Given the description of an element on the screen output the (x, y) to click on. 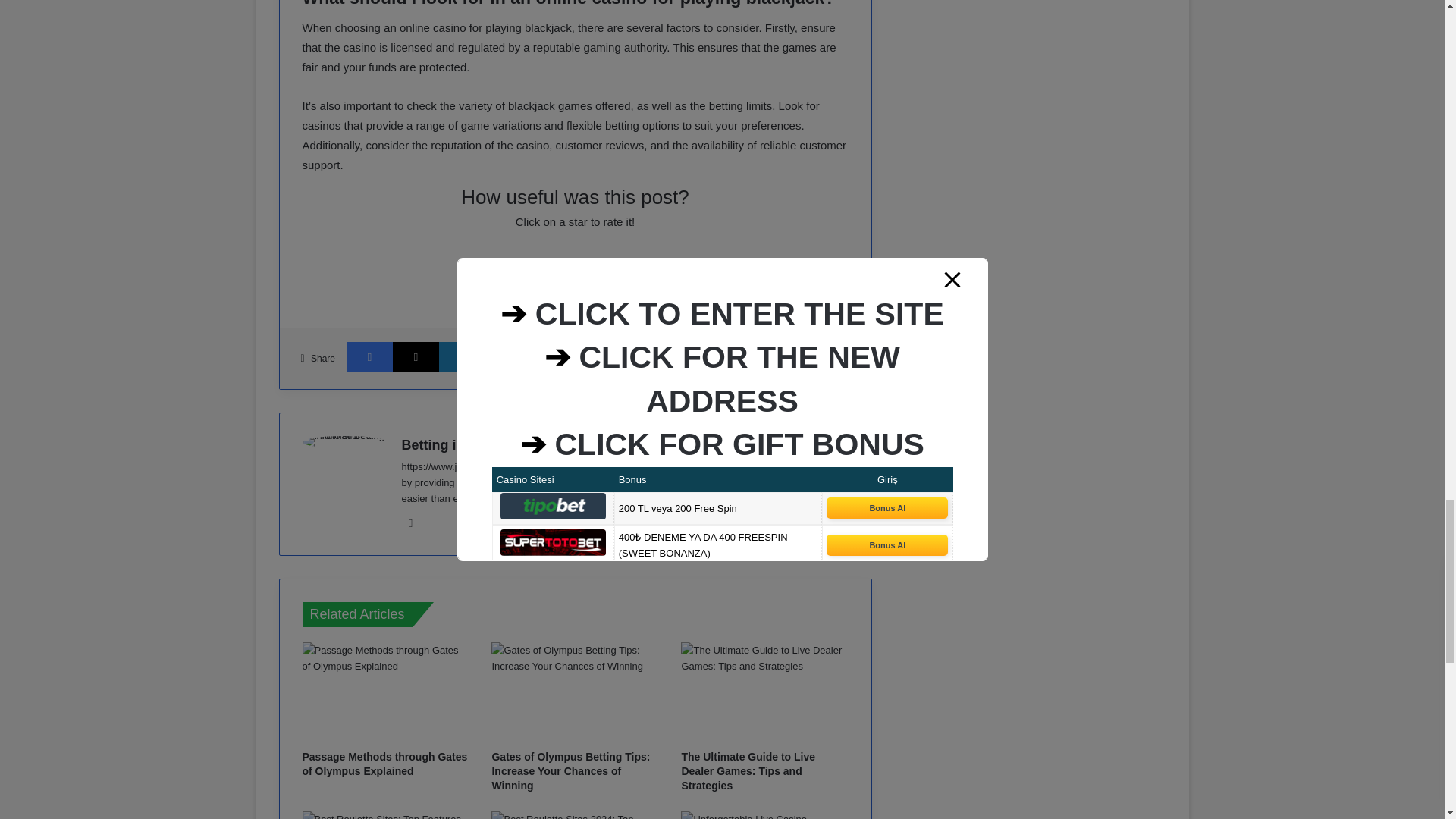
Print (738, 356)
Reddit (601, 356)
VKontakte (646, 356)
Print (738, 356)
X (416, 356)
Pinterest (554, 356)
Reddit (601, 356)
X (416, 356)
Passage Methods through Gates of Olympus Explained (384, 764)
Share via Email (692, 356)
